Given the description of an element on the screen output the (x, y) to click on. 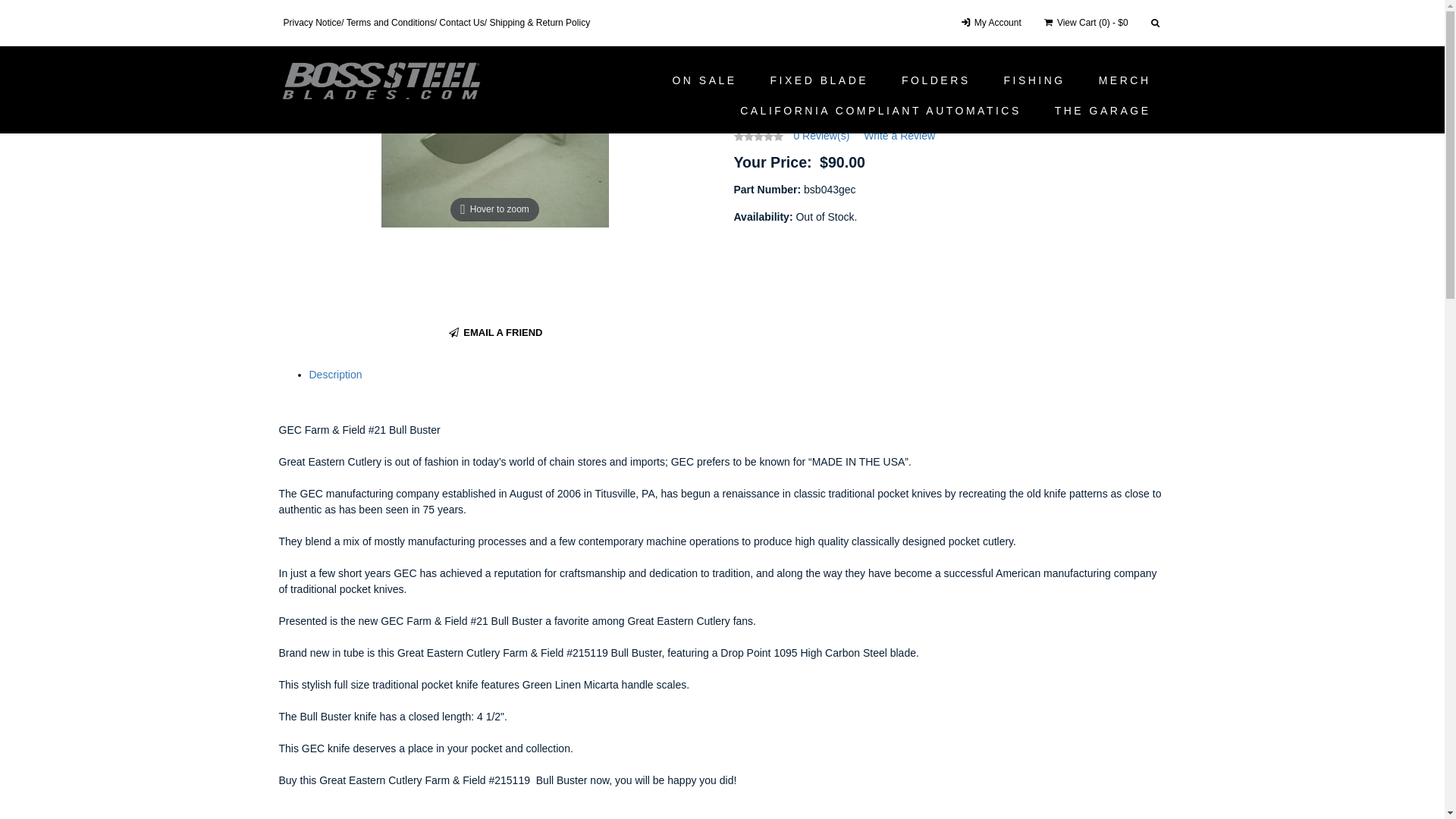
Search Element type: text (1155, 22)
FOLDERS Element type: text (346, 36)
FOLDERS Element type: text (935, 80)
MERCH Element type: text (1124, 80)
CALIFORNIA COMPLIANT AUTOMATICS Element type: text (880, 110)
THE GARAGE Element type: text (1102, 110)
FISHING Element type: text (1033, 80)
GEC Farm & Field #21 Bull Buster- green linen micarta Element type: text (515, 36)
Zoom in on Image(s)
Hover to zoom Element type: text (494, 140)
0 Review(s) Element type: text (821, 135)
View Cart (0) - $0 Element type: text (1084, 22)
EMAIL A FRIEND Element type: text (494, 333)
Description Element type: text (335, 374)
Home Element type: text (293, 36)
FIXED BLADE Element type: text (819, 80)
ON SALE Element type: text (703, 80)
My Account Element type: text (990, 22)
Write a Review Element type: text (899, 135)
